Given the description of an element on the screen output the (x, y) to click on. 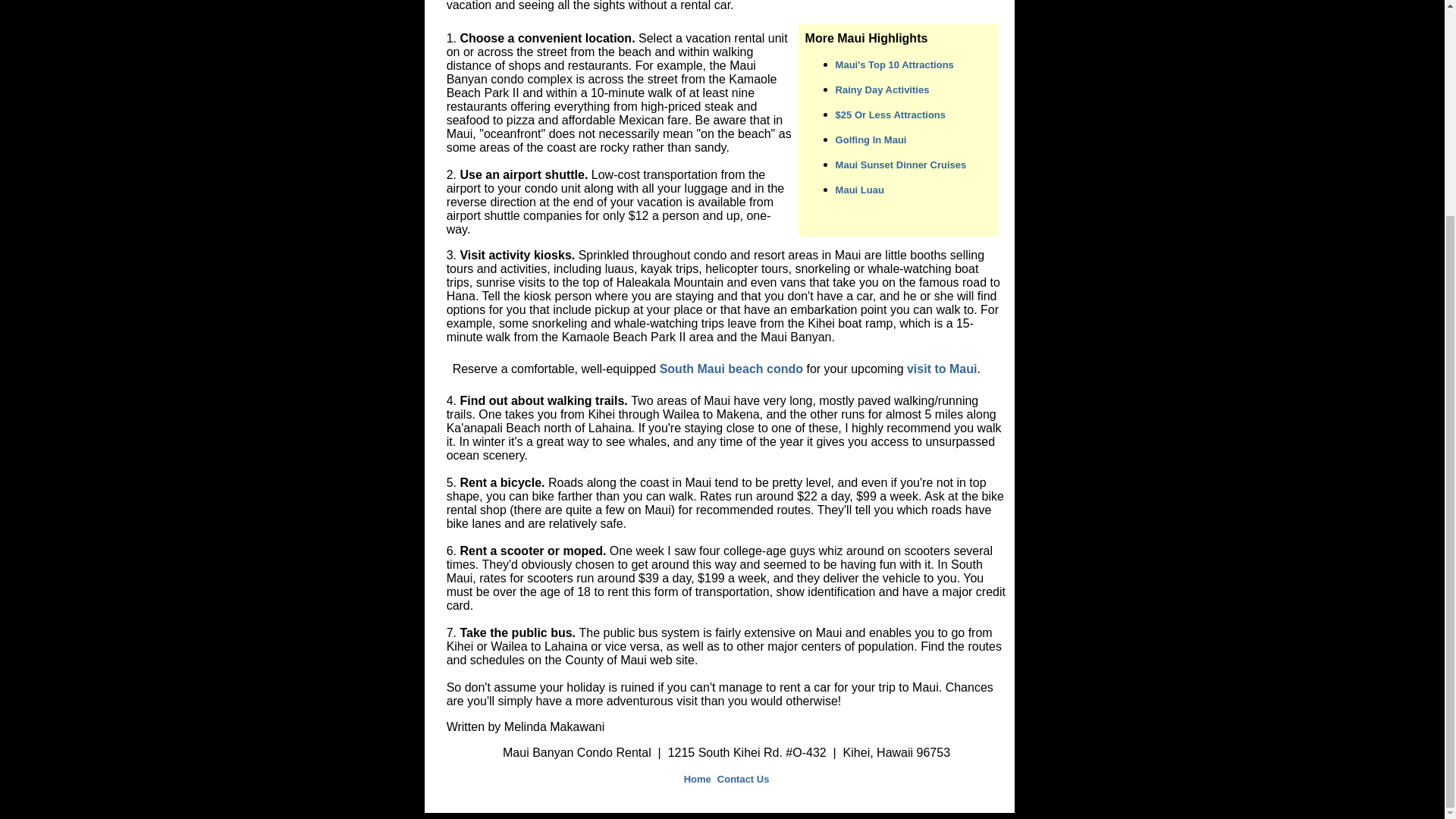
visit to Maui (941, 369)
South Maui beach condo (731, 369)
Rainy Day Activities (882, 89)
Golfing In Maui (871, 139)
Maui Sunset Dinner Cruises (900, 164)
Maui Luau (859, 189)
Home  (699, 778)
Maui's Top 10 Attractions (894, 64)
Contact Us (743, 778)
